Given the description of an element on the screen output the (x, y) to click on. 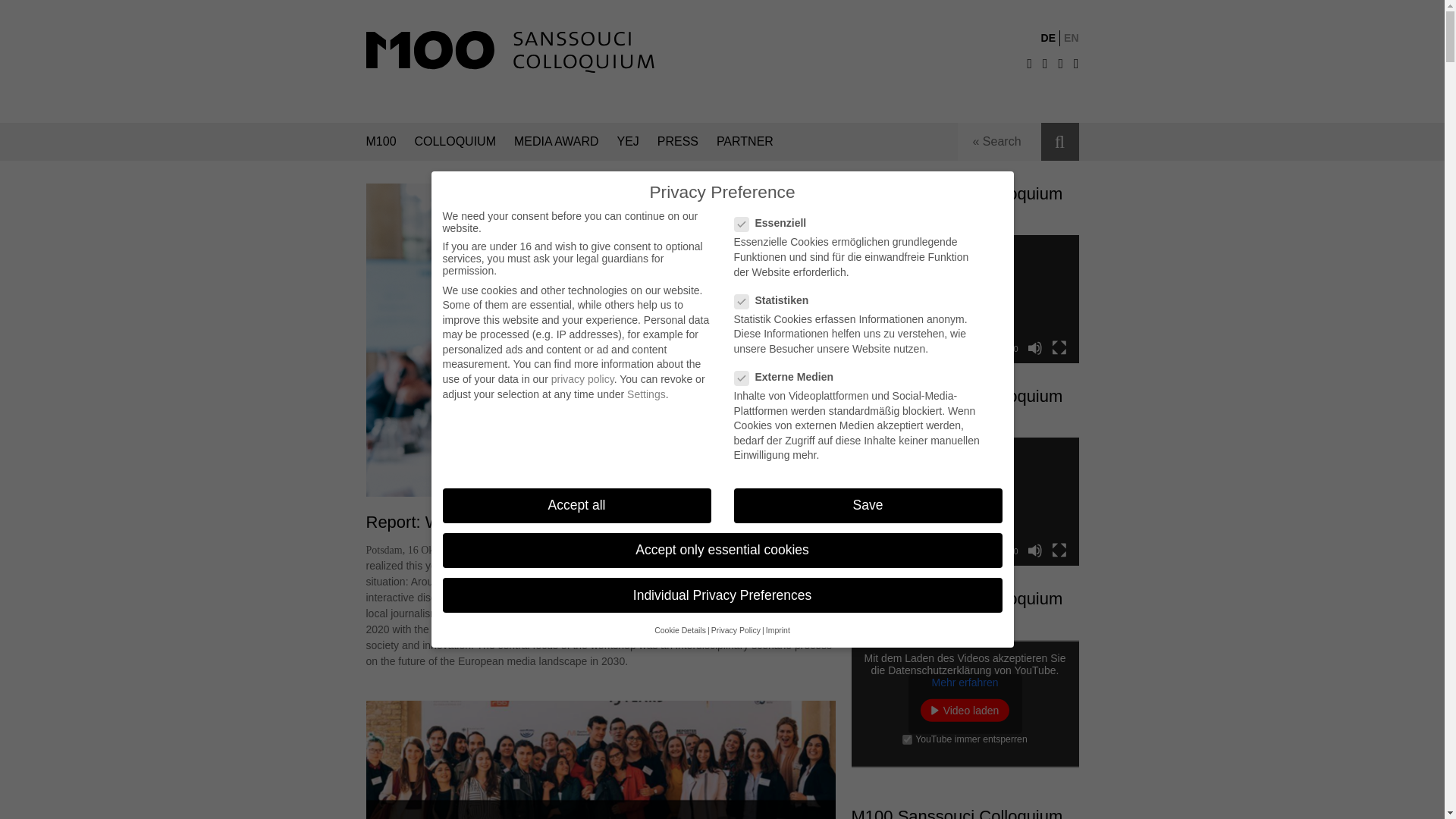
COLLOQUIUM (454, 141)
Play (870, 549)
Mute (1034, 549)
1 (907, 739)
PRESS (678, 141)
Mute (1034, 347)
YEJ (628, 141)
DE (1048, 37)
Play (870, 347)
MEDIA AWARD (555, 141)
M100 (380, 141)
Fullscreen (1058, 347)
EN (1071, 37)
Fullscreen (1058, 549)
PARTNER (744, 141)
